Given the description of an element on the screen output the (x, y) to click on. 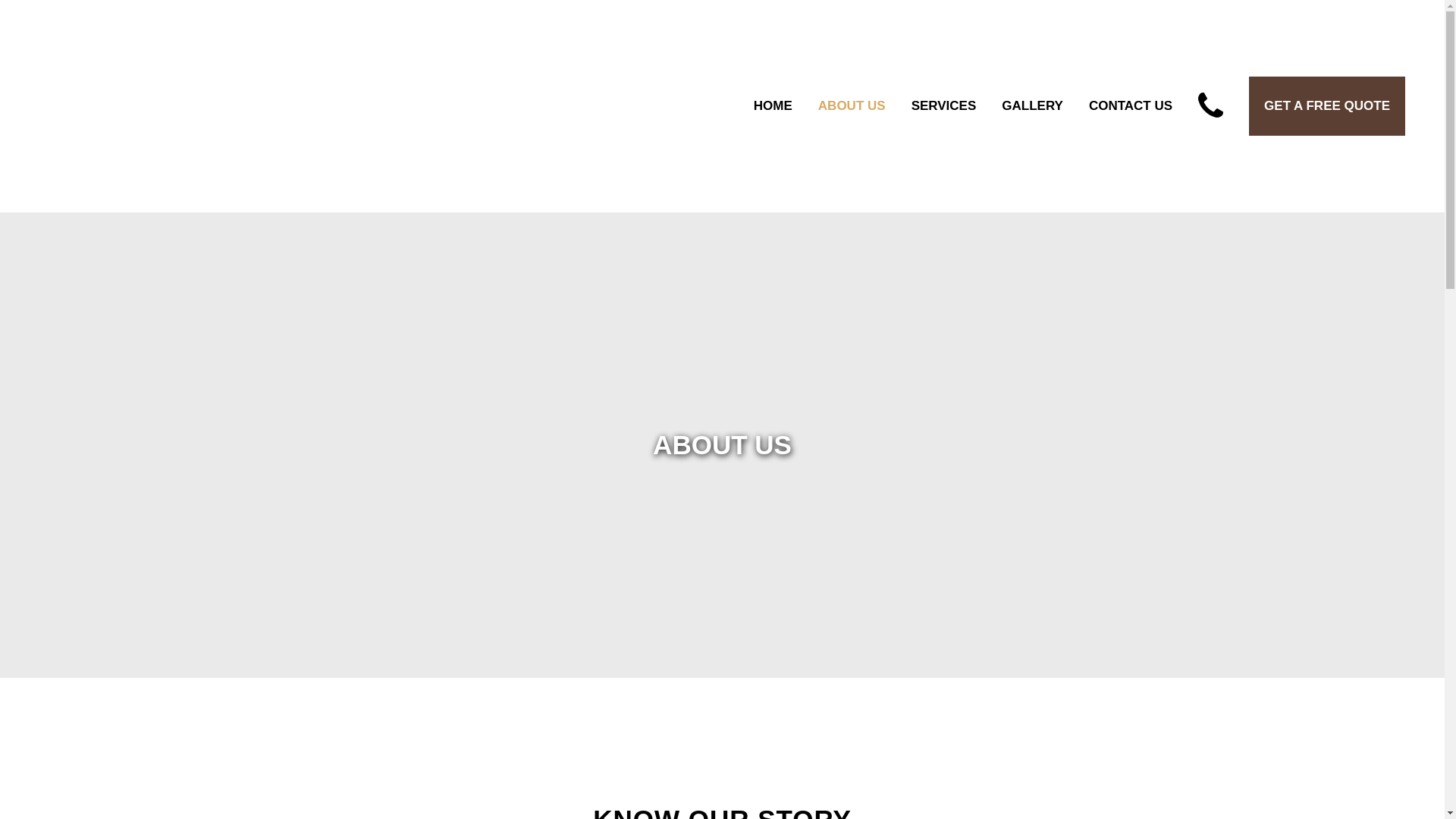
GALLERY Element type: text (1032, 106)
GET A FREE QUOTE Element type: text (1327, 106)
CONTACT US Element type: text (1130, 106)
HOME Element type: text (772, 106)
ABOUT US Element type: text (851, 106)
SERVICES Element type: text (943, 106)
